Given the description of an element on the screen output the (x, y) to click on. 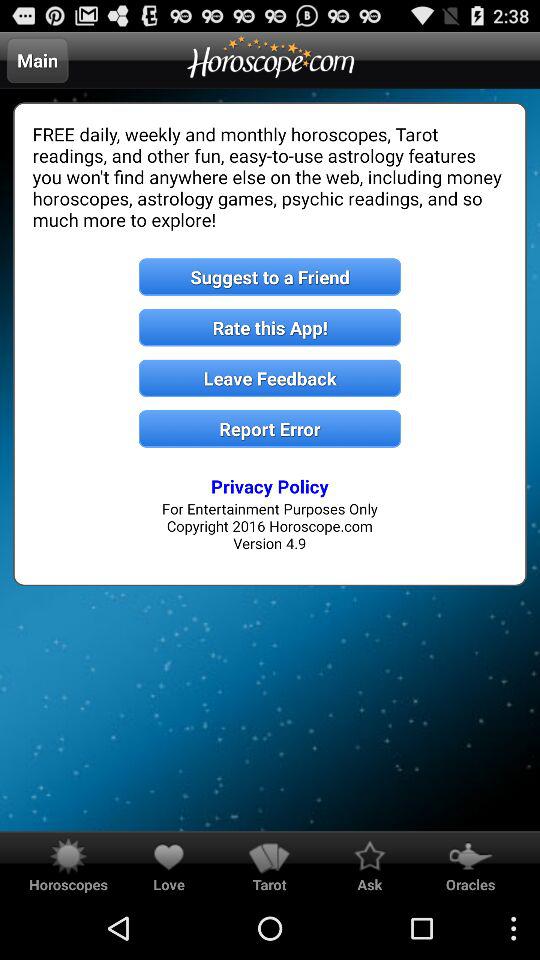
swipe to the suggest to a item (269, 276)
